Given the description of an element on the screen output the (x, y) to click on. 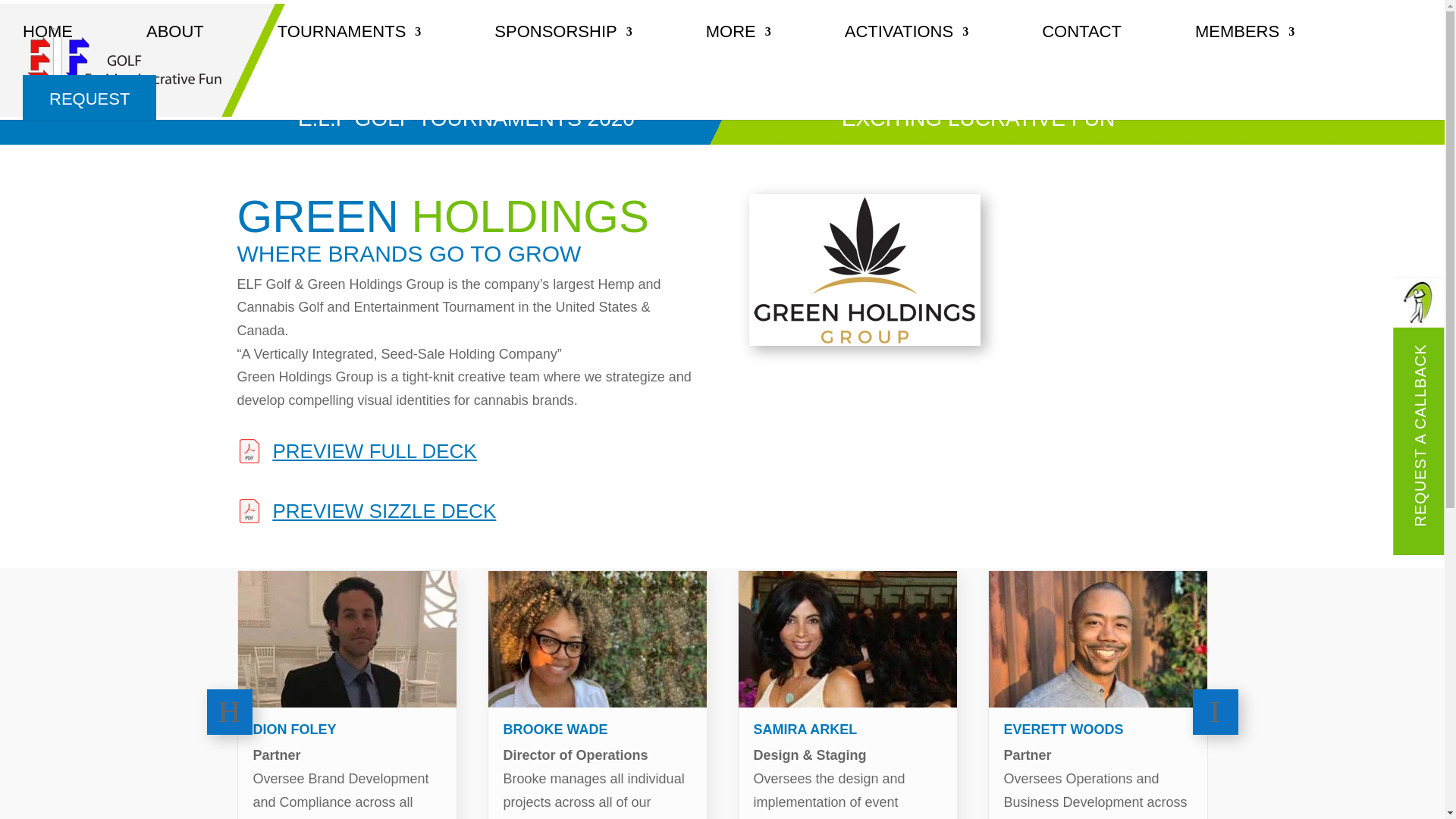
TOURNAMENTS (350, 50)
MORE (738, 50)
HOME (47, 50)
ABOUT (175, 50)
ACTIVATIONS (906, 50)
SPONSORSHIP (563, 50)
